Given the description of an element on the screen output the (x, y) to click on. 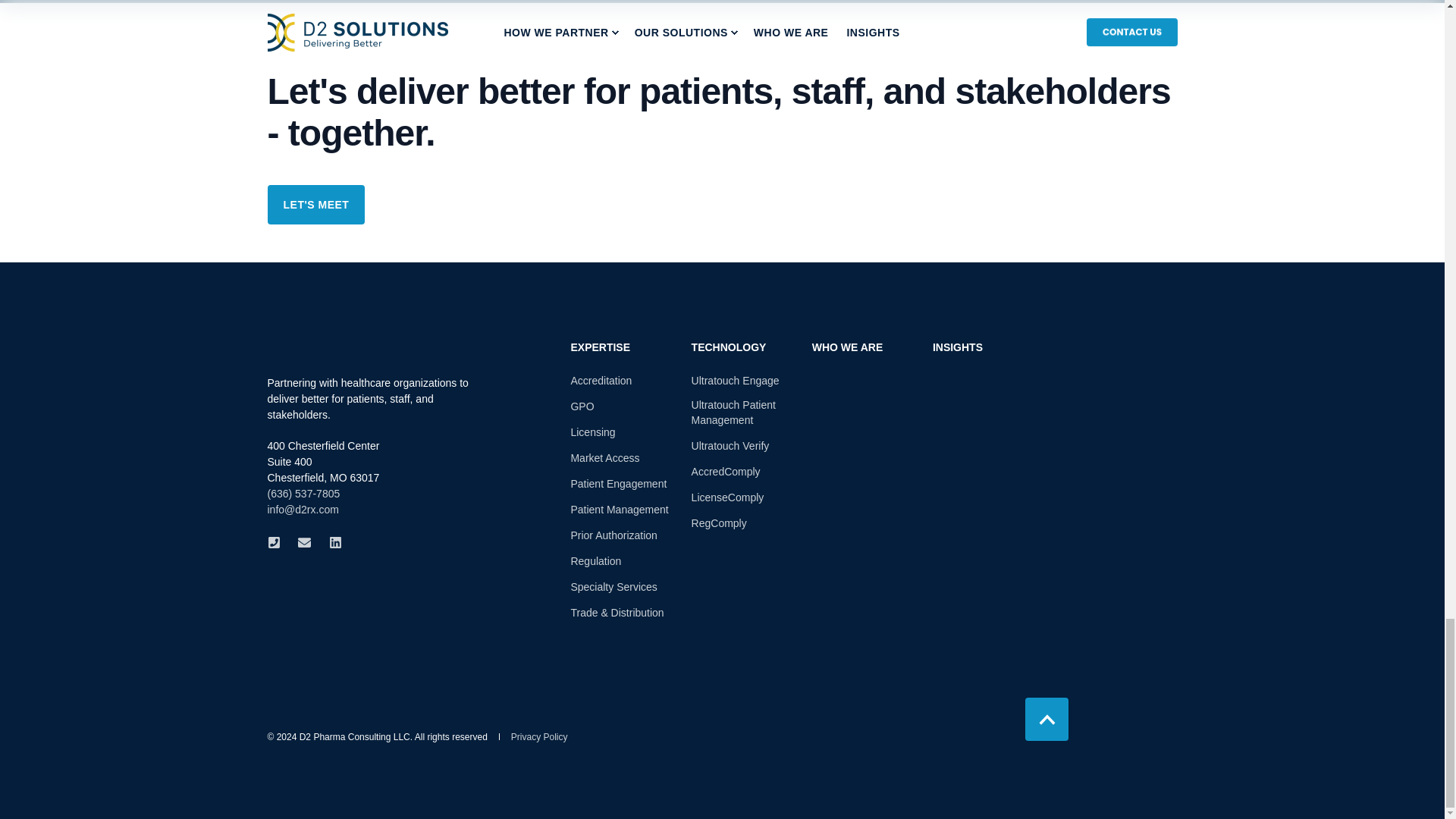
Button Let's Meet (315, 204)
